Given the description of an element on the screen output the (x, y) to click on. 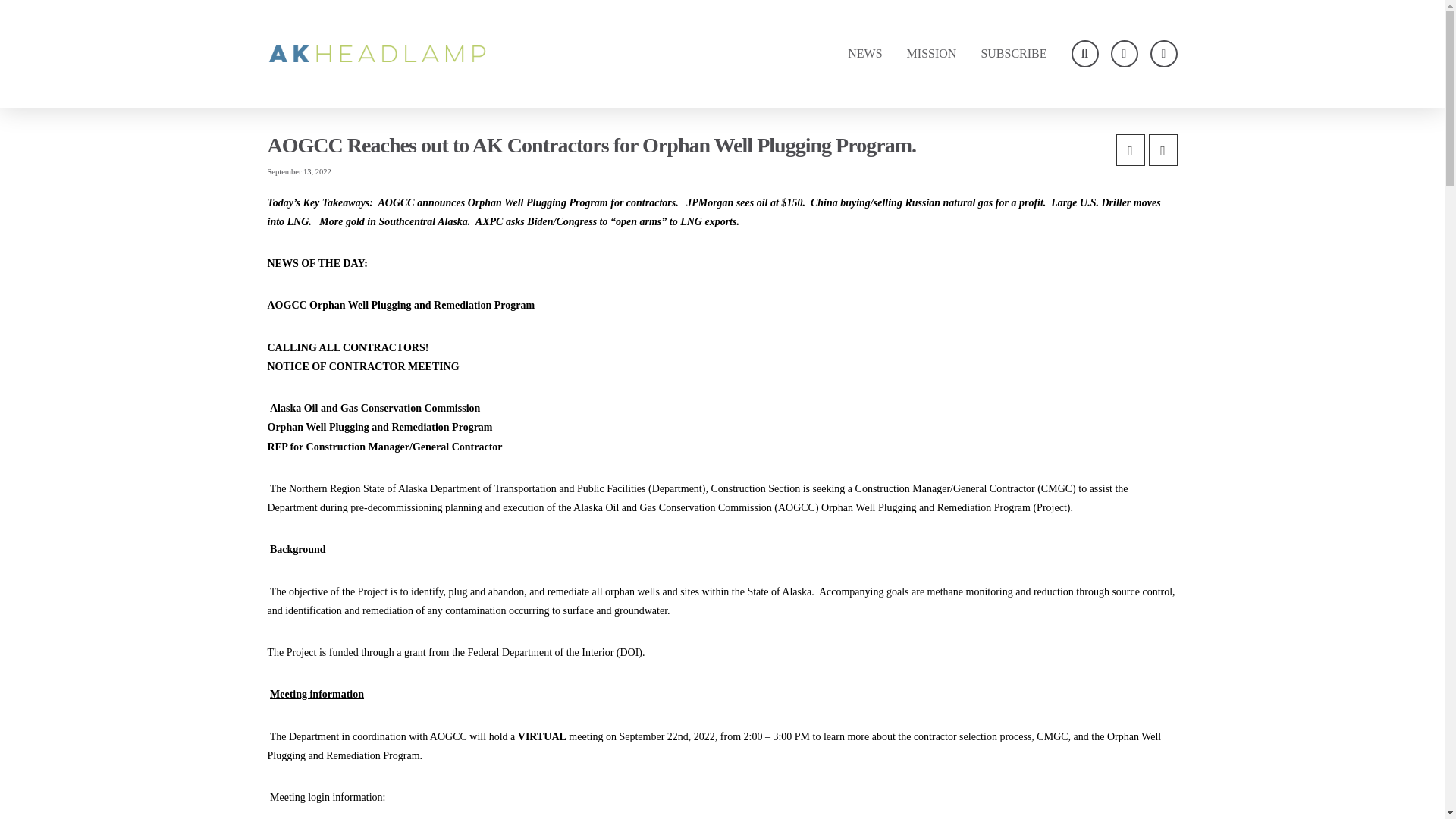
NEWS (864, 53)
MISSION (931, 53)
SUBSCRIBE (1012, 53)
